Given the description of an element on the screen output the (x, y) to click on. 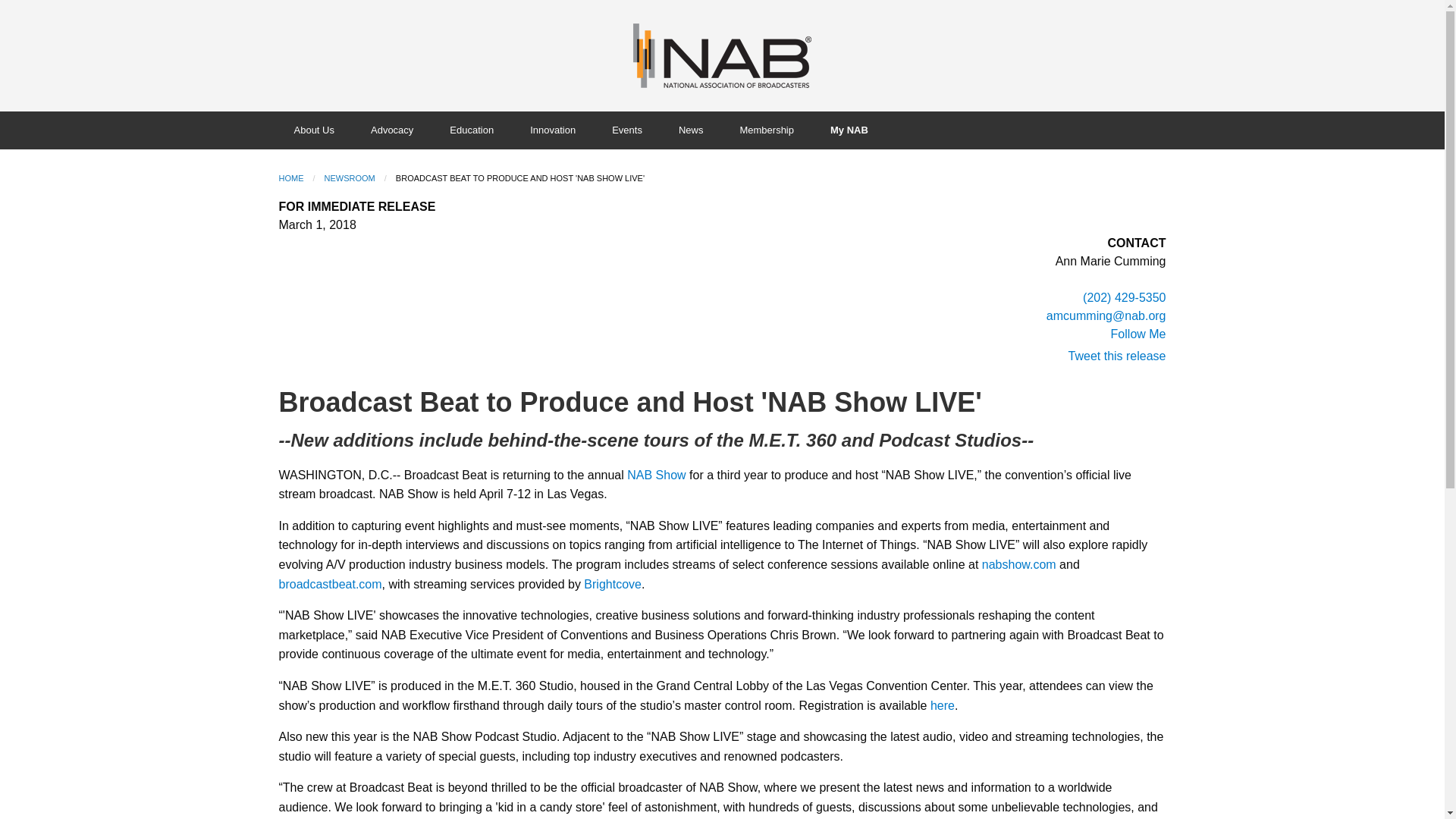
About Us (317, 130)
Innovation (555, 130)
Education (474, 130)
Advocacy (394, 130)
